Given the description of an element on the screen output the (x, y) to click on. 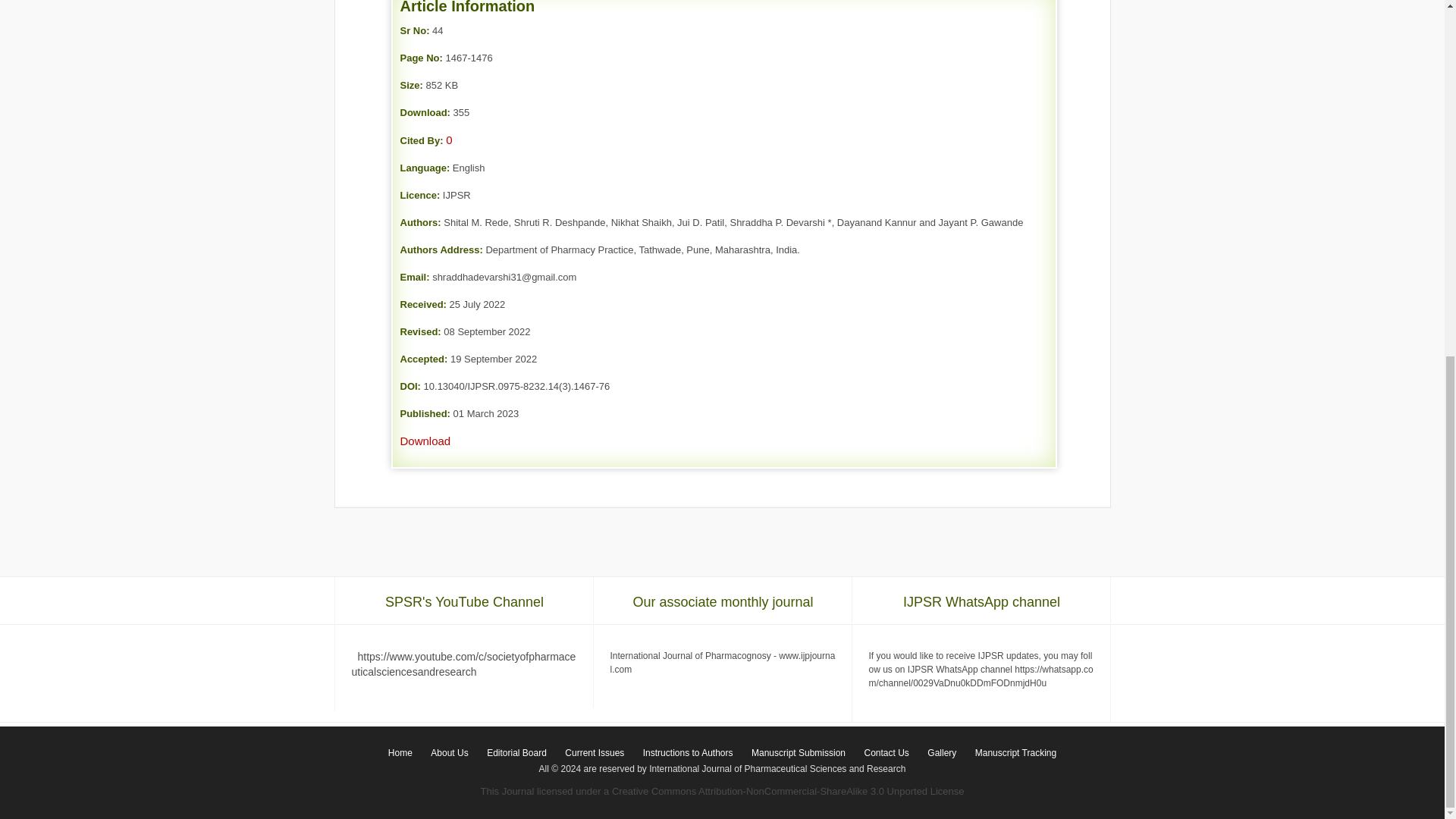
Download (425, 440)
Current Issues (594, 752)
About Us (449, 752)
Gallery (941, 752)
Manuscript Submission (798, 752)
Contact Us (885, 752)
Home (400, 752)
Editorial Board (516, 752)
Manuscript Tracking (1016, 752)
Instructions to Authors (687, 752)
